Given the description of an element on the screen output the (x, y) to click on. 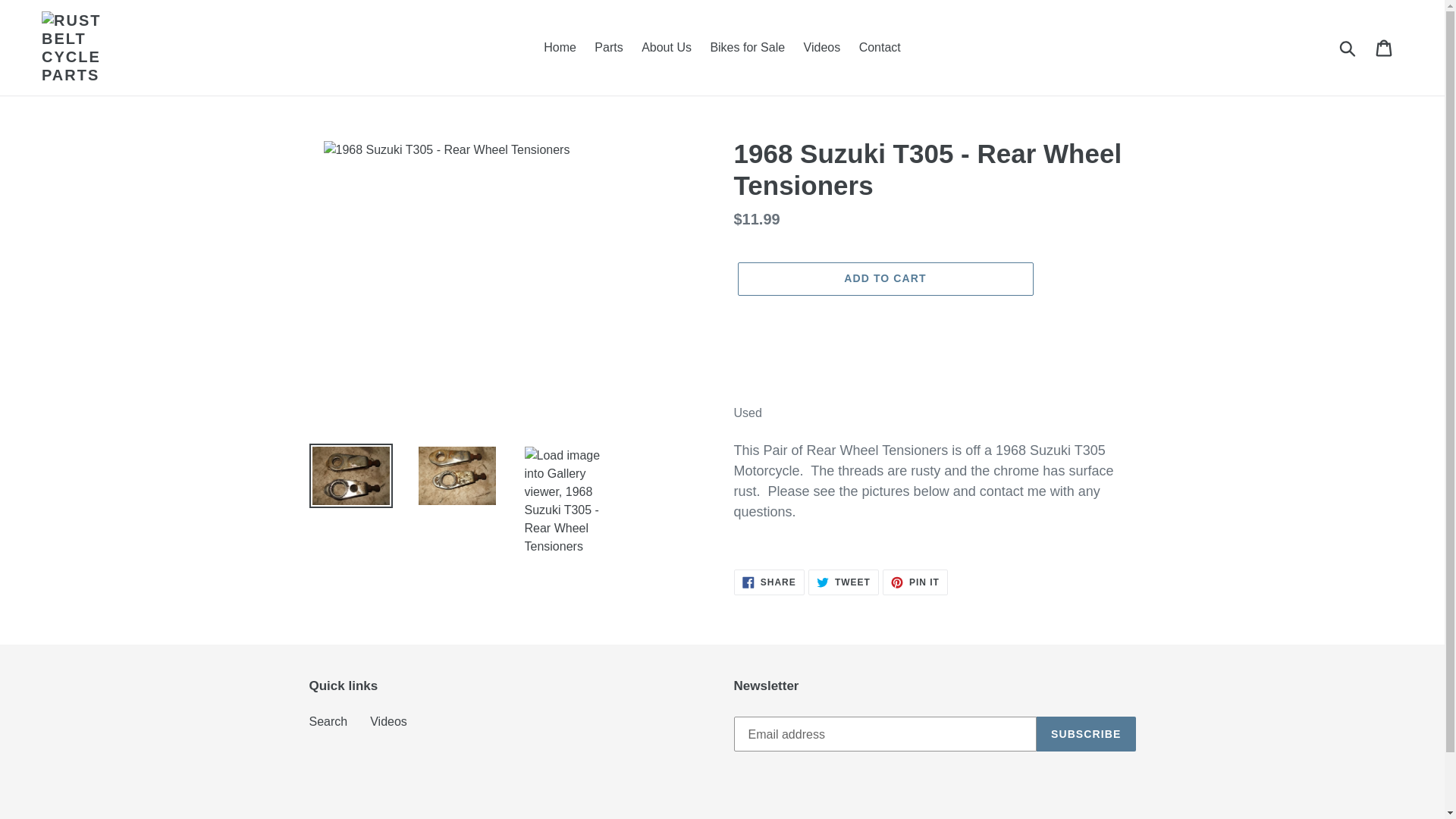
Bikes for Sale (746, 47)
Videos (822, 47)
About Us (665, 47)
Cart (769, 582)
Contact (914, 582)
SUBSCRIBE (1385, 47)
Submit (879, 47)
Home (1085, 733)
